Given the description of an element on the screen output the (x, y) to click on. 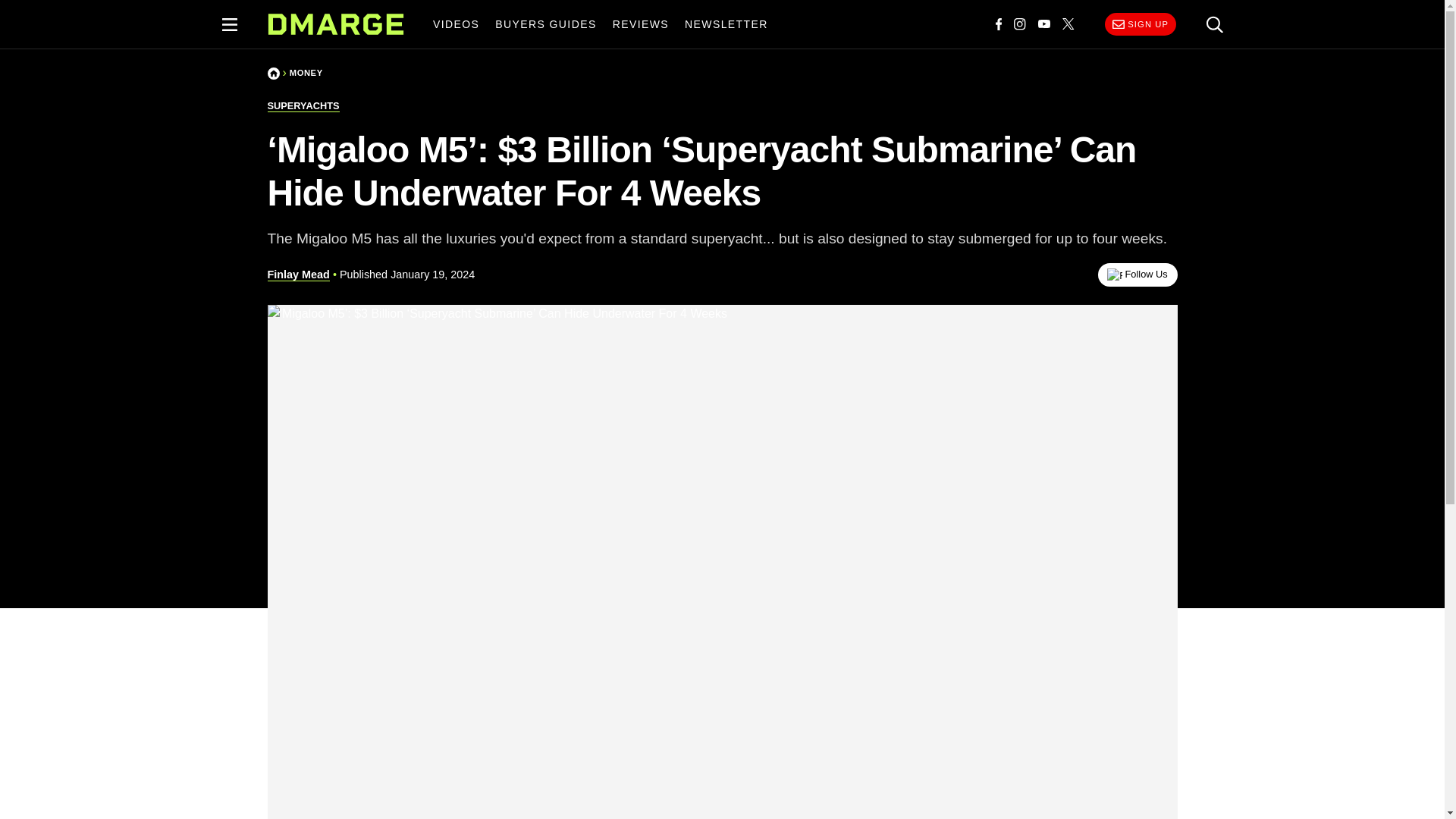
Newsletter Signup (1139, 24)
REVIEWS (640, 24)
NEWSLETTER (726, 24)
SIGN UP (1139, 24)
Posts by Finlay Mead (297, 274)
VIDEOS (455, 24)
Visit us on Instagram (1019, 24)
BUYERS GUIDES (545, 24)
Visit us on YouTube (1044, 23)
Visit us on Twitter (1068, 24)
